Given the description of an element on the screen output the (x, y) to click on. 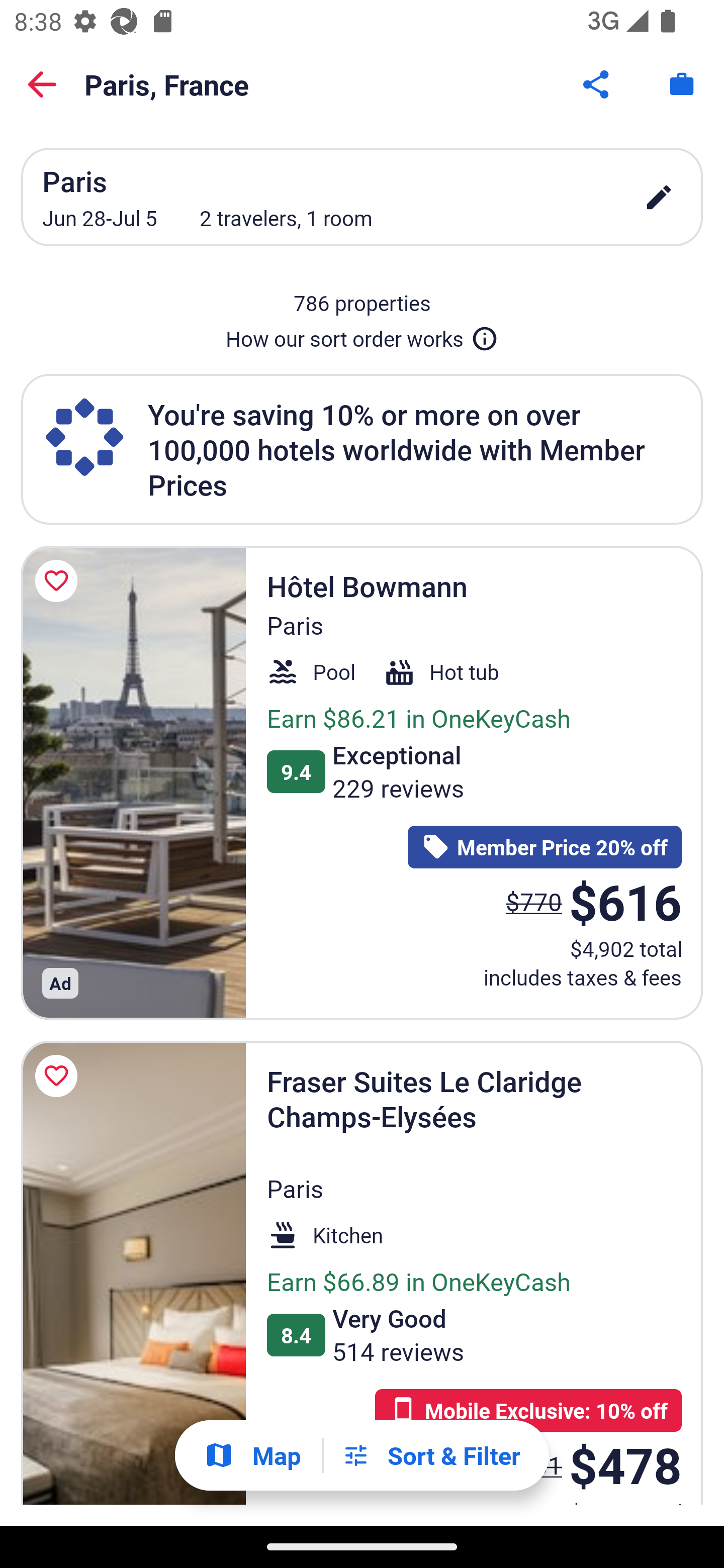
Back (42, 84)
Share Button (597, 84)
Trips. Button (681, 84)
Paris Jun 28-Jul 5 2 travelers, 1 room edit (361, 196)
How our sort order works (361, 334)
Save Hôtel Bowmann to a trip (59, 580)
Hôtel Bowmann (133, 782)
$770 The price was $770 (533, 901)
Fraser Suites Le Claridge Champs-Elysées (133, 1273)
Filters Sort & Filter Filters Button (430, 1455)
Show map Map Show map Button (252, 1455)
